Given the description of an element on the screen output the (x, y) to click on. 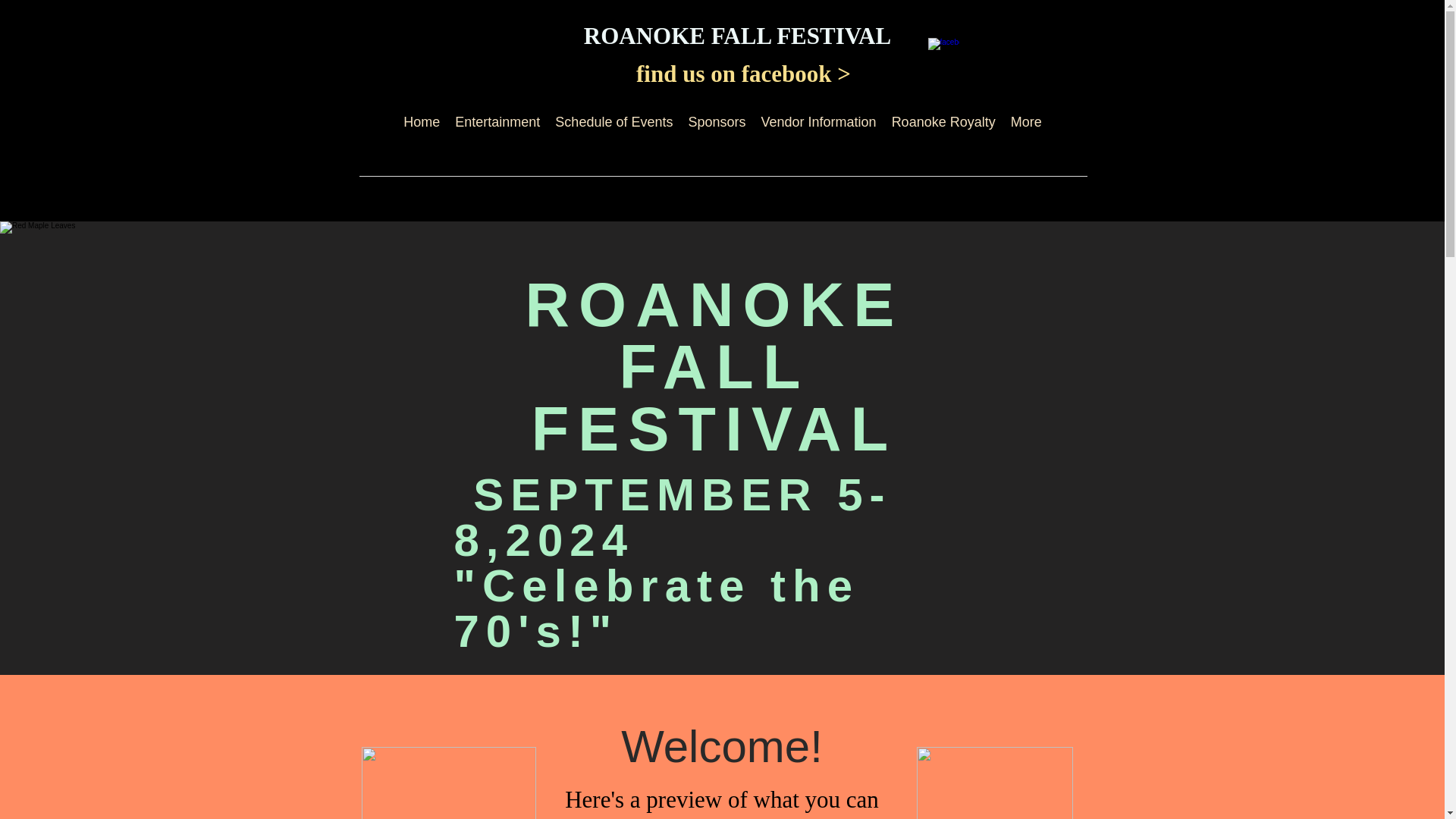
Vendor Information (818, 135)
Home (421, 135)
Roanoke Royalty (943, 135)
ROANOKE FALL FESTIVAL (737, 35)
Entertainment (496, 135)
Sponsors (715, 135)
Pumpkins (993, 782)
Park in the Fall (448, 782)
Schedule of Events (613, 135)
